Given the description of an element on the screen output the (x, y) to click on. 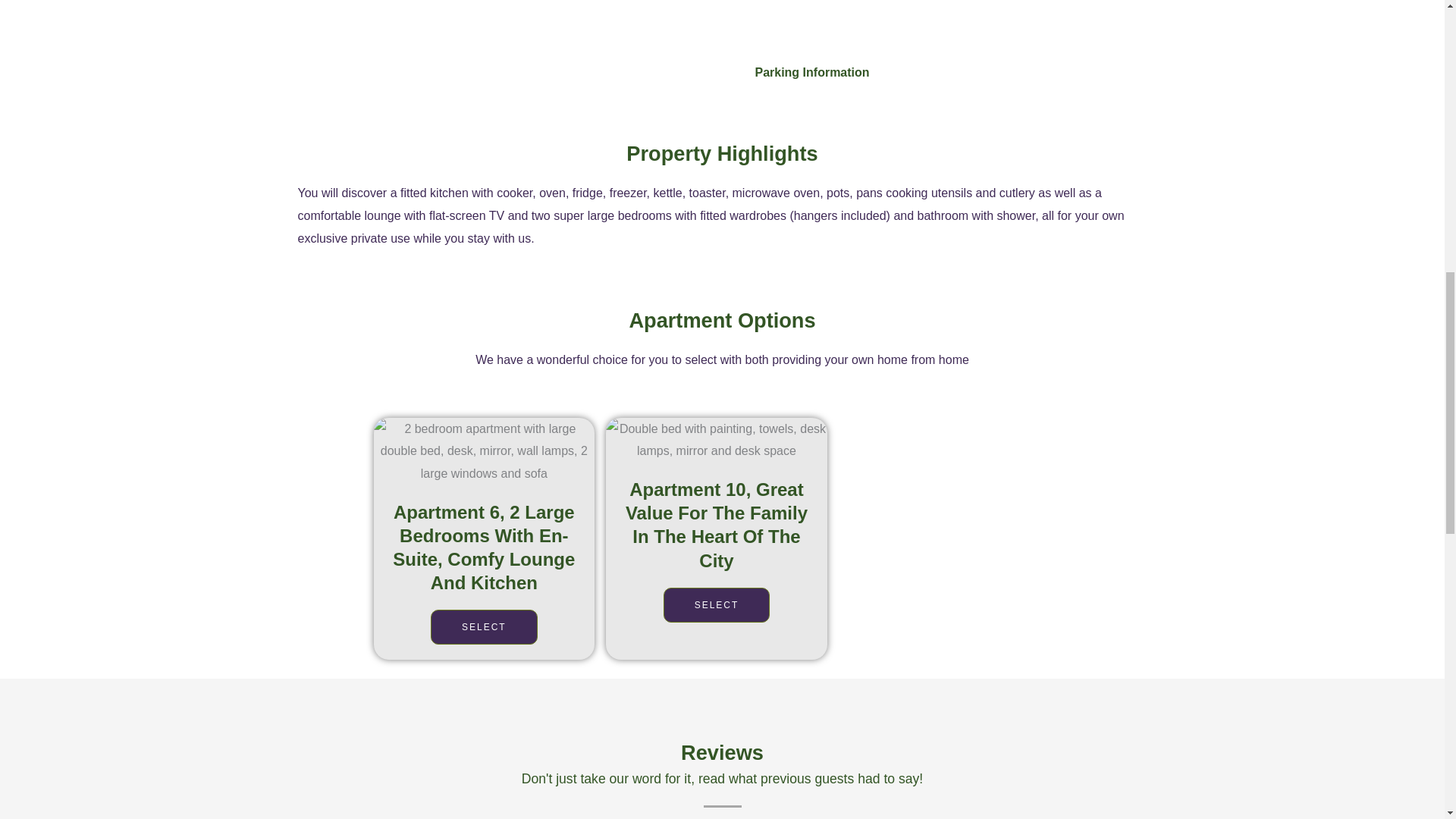
Large spacious bedroom with sofas and desk space included! (483, 451)
